Given the description of an element on the screen output the (x, y) to click on. 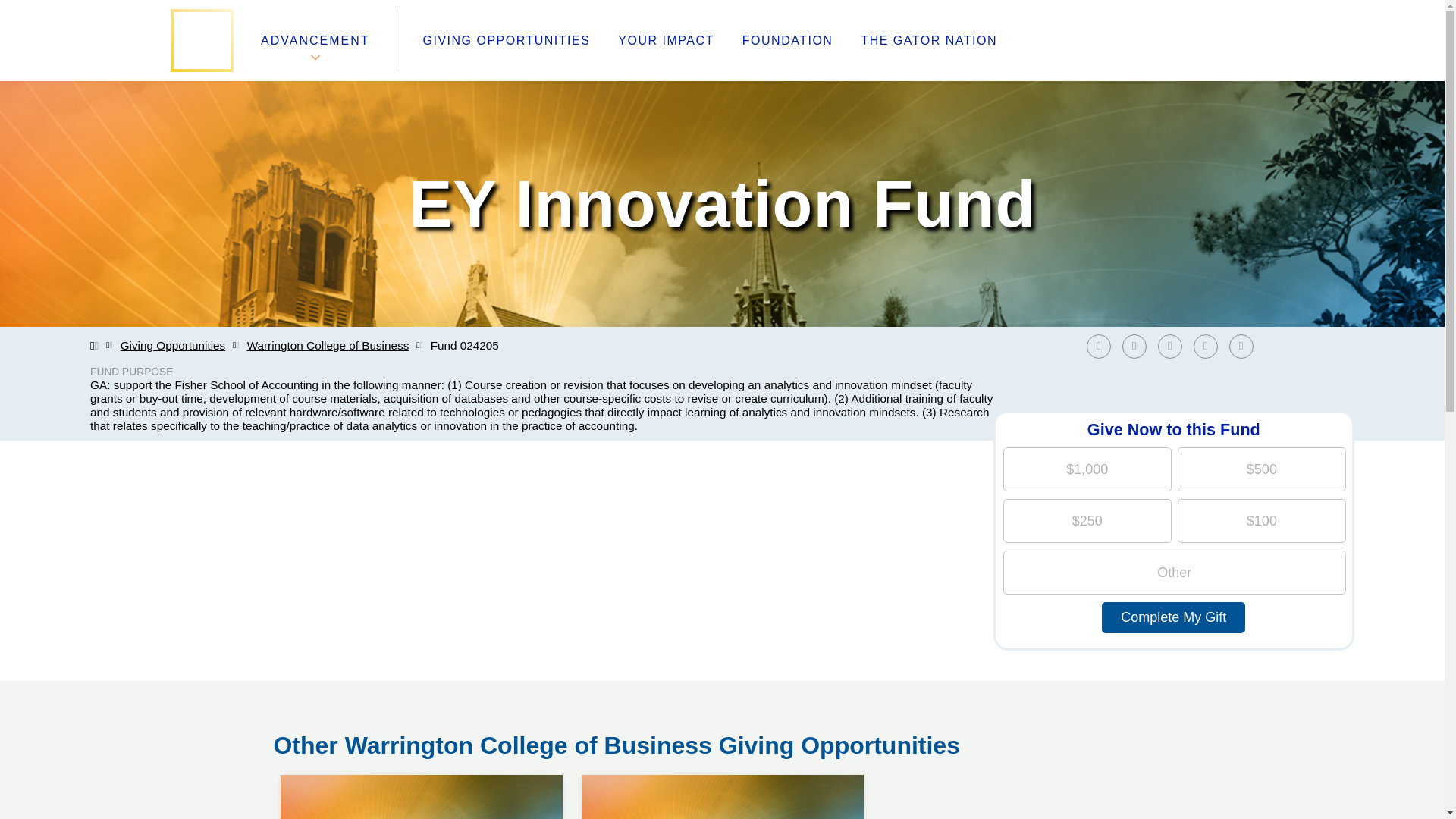
ADVANCEMENT (314, 40)
Foundation Board (327, 704)
Share on Twitter (1134, 346)
Share by Email (1244, 345)
Staff Directory (316, 686)
Share on Facebook (1102, 345)
Share on Reddit (1205, 346)
Share on Facebook (1098, 346)
Disclosures (537, 723)
FOUNDATION (787, 40)
Warrington College of Business (328, 345)
Share on LinkedIn (1173, 345)
Contact Us (306, 723)
Complete My Gift (1173, 617)
YOUR IMPACT (665, 40)
